Given the description of an element on the screen output the (x, y) to click on. 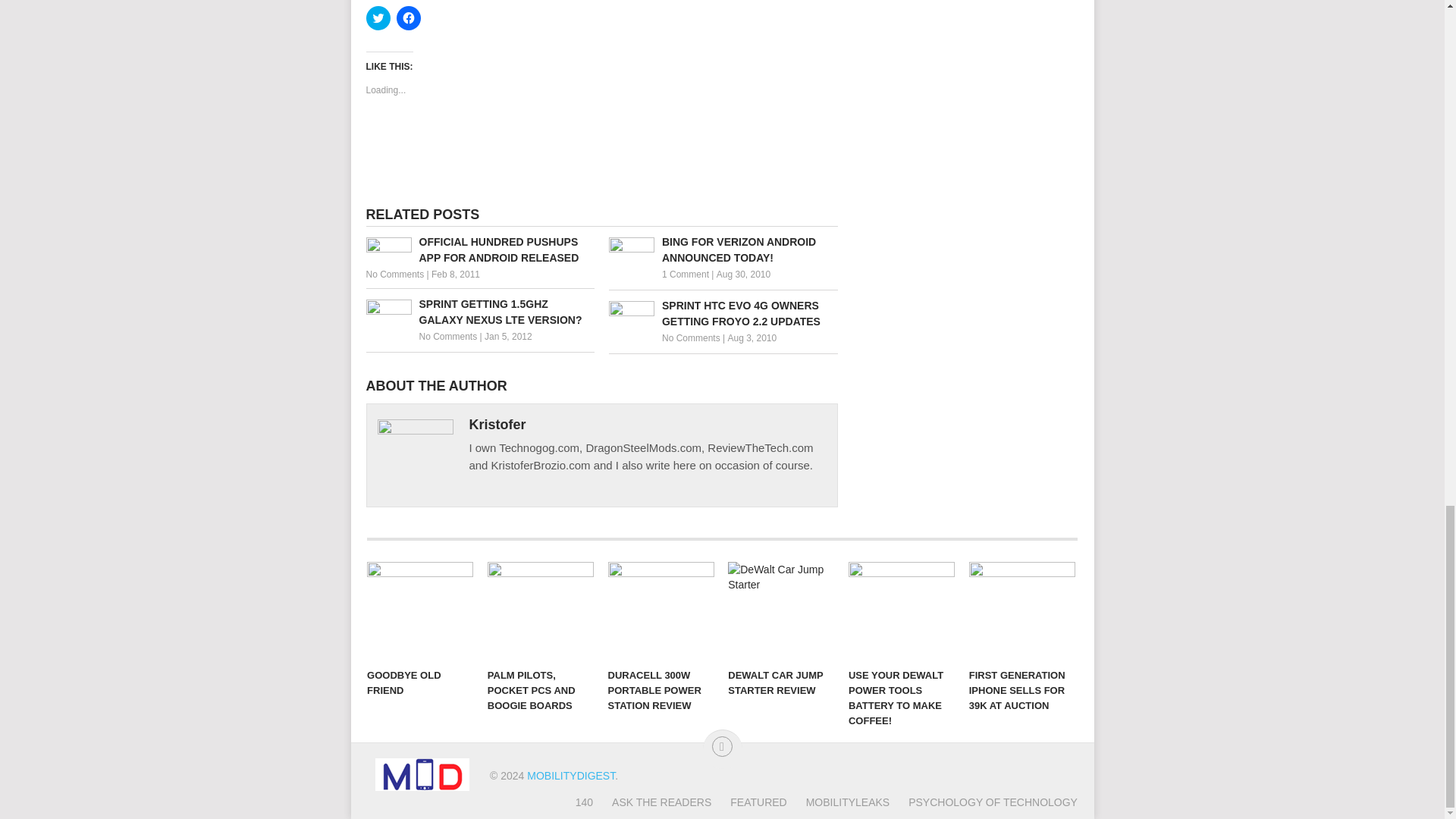
No Comments (691, 337)
No Comments (448, 336)
Click to share on Facebook (408, 17)
SPRINT HTC EVO 4G OWNERS GETTING FROYO 2.2 UPDATES (723, 314)
1 Comment (685, 274)
SPRINT GETTING 1.5GHZ GALAXY NEXUS LTE VERSION? (479, 312)
USE YOUR DEWALT POWER TOOLS BATTERY TO MAKE COFFEE! (901, 610)
GOODBYE OLD FRIEND (419, 610)
No Comments (394, 274)
DEWALT CAR JUMP STARTER REVIEW (781, 610)
BING FOR VERIZON ANDROID ANNOUNCED TODAY! (723, 250)
PALM PILOTS, POCKET PCS AND BOOGIE BOARDS (540, 610)
Click to share on Twitter (377, 17)
OFFICIAL HUNDRED PUSHUPS APP FOR ANDROID RELEASED (479, 250)
FIRST GENERATION IPHONE SELLS FOR 39K AT AUCTION (1022, 610)
